Given the description of an element on the screen output the (x, y) to click on. 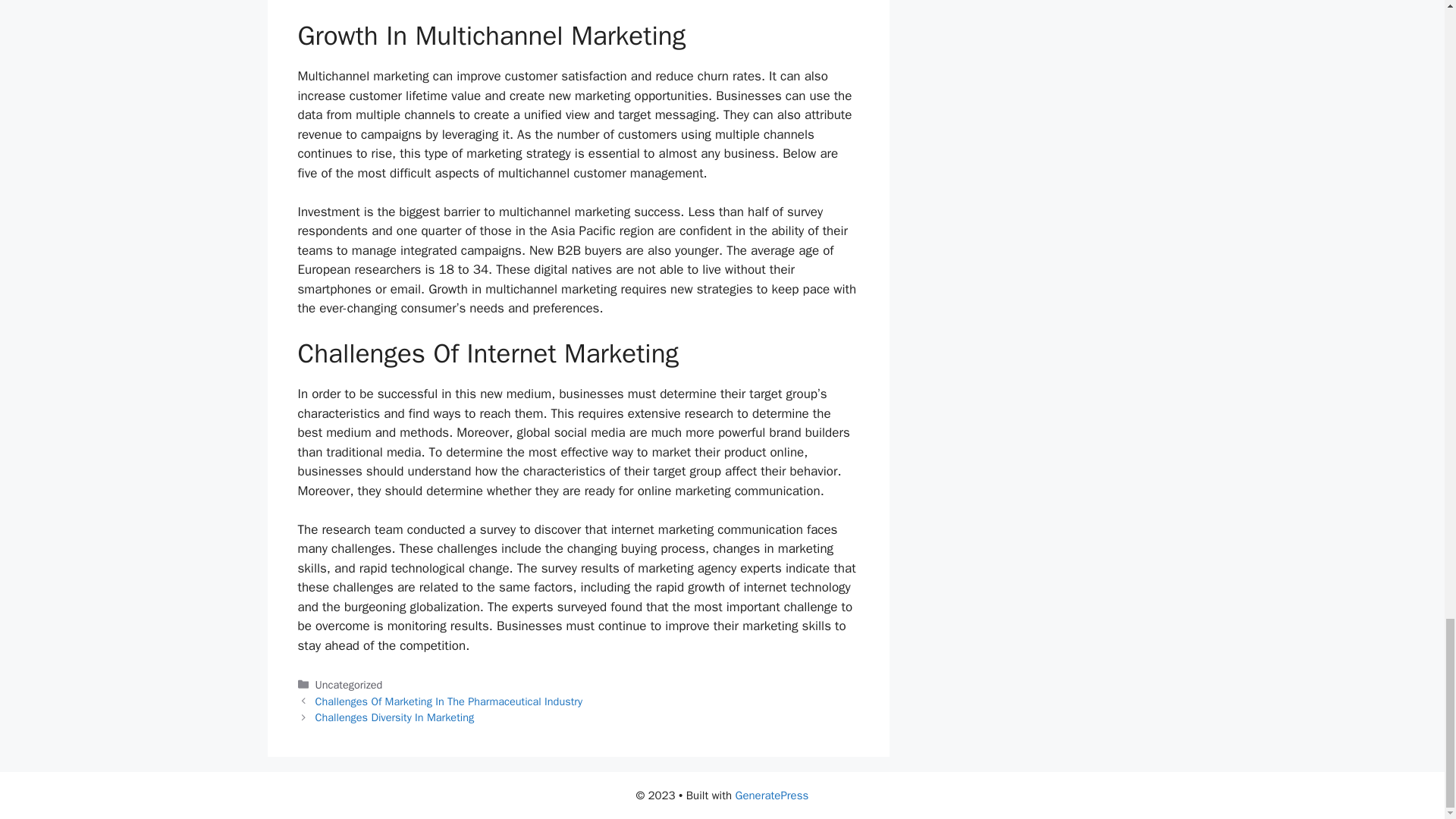
Challenges Diversity In Marketing (394, 716)
Challenges Of Marketing In The Pharmaceutical Industry (448, 701)
GeneratePress (772, 795)
